Given the description of an element on the screen output the (x, y) to click on. 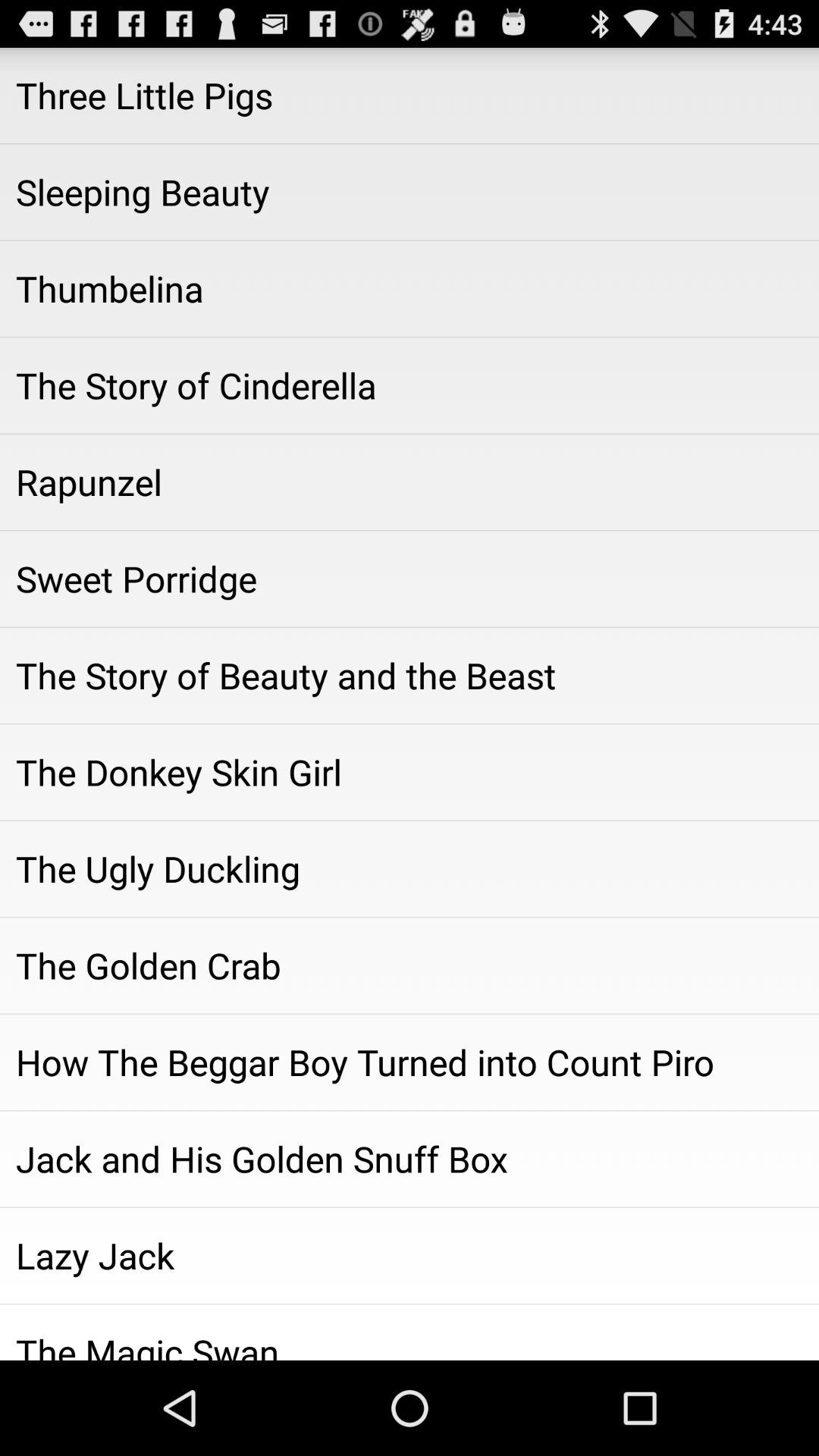
turn off app above the the golden crab app (409, 868)
